Given the description of an element on the screen output the (x, y) to click on. 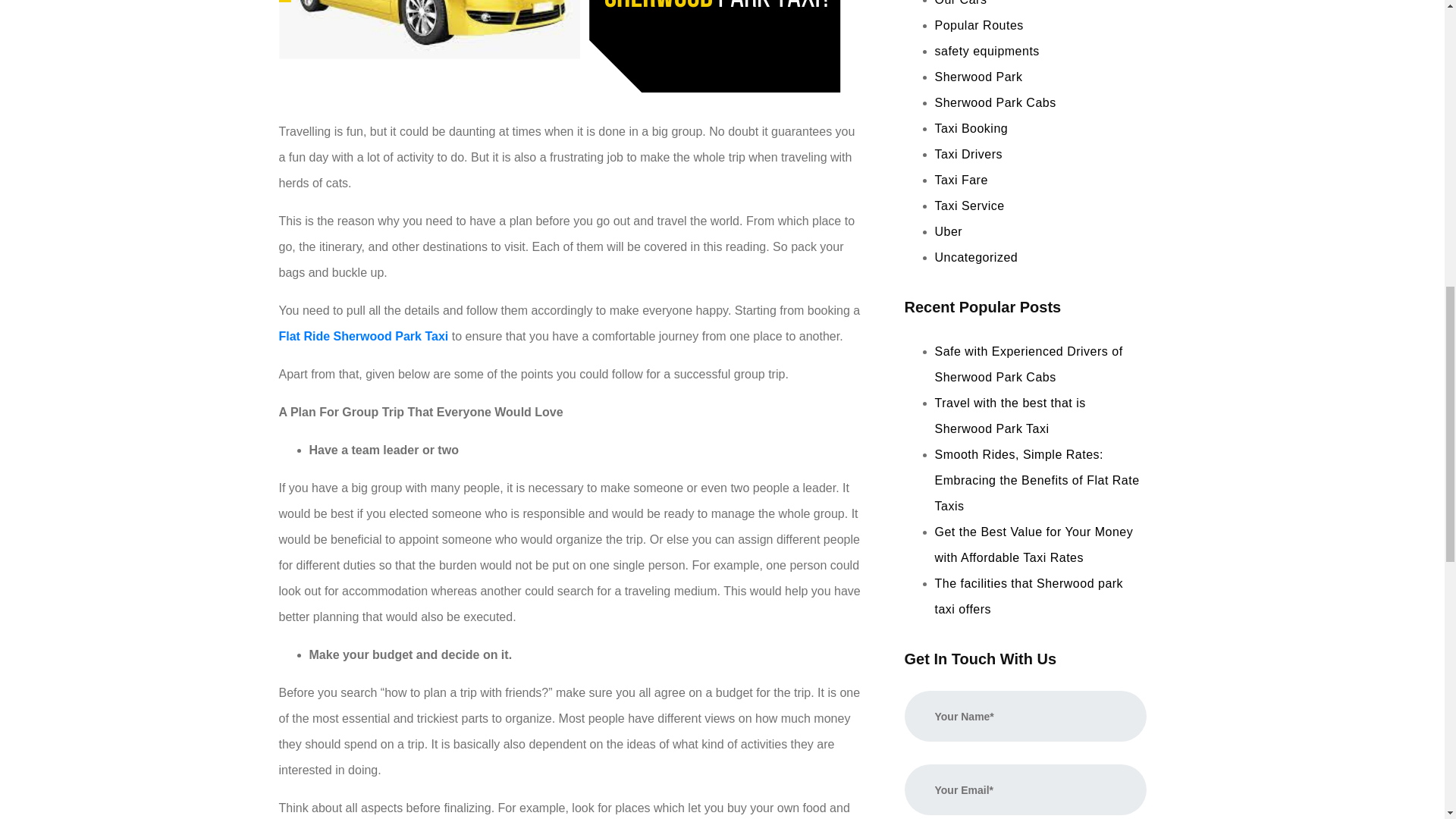
Taxi Drivers (968, 154)
safety equipments (986, 51)
Sherwood Park (978, 76)
Taxi Fare (960, 179)
Our Cars (960, 2)
Safe with Experienced Drivers of Sherwood Park Cabs (1028, 364)
Flat Ride Sherwood Park Taxi (363, 336)
Popular Routes (978, 24)
Taxi Booking (970, 128)
Uber (948, 231)
